Given the description of an element on the screen output the (x, y) to click on. 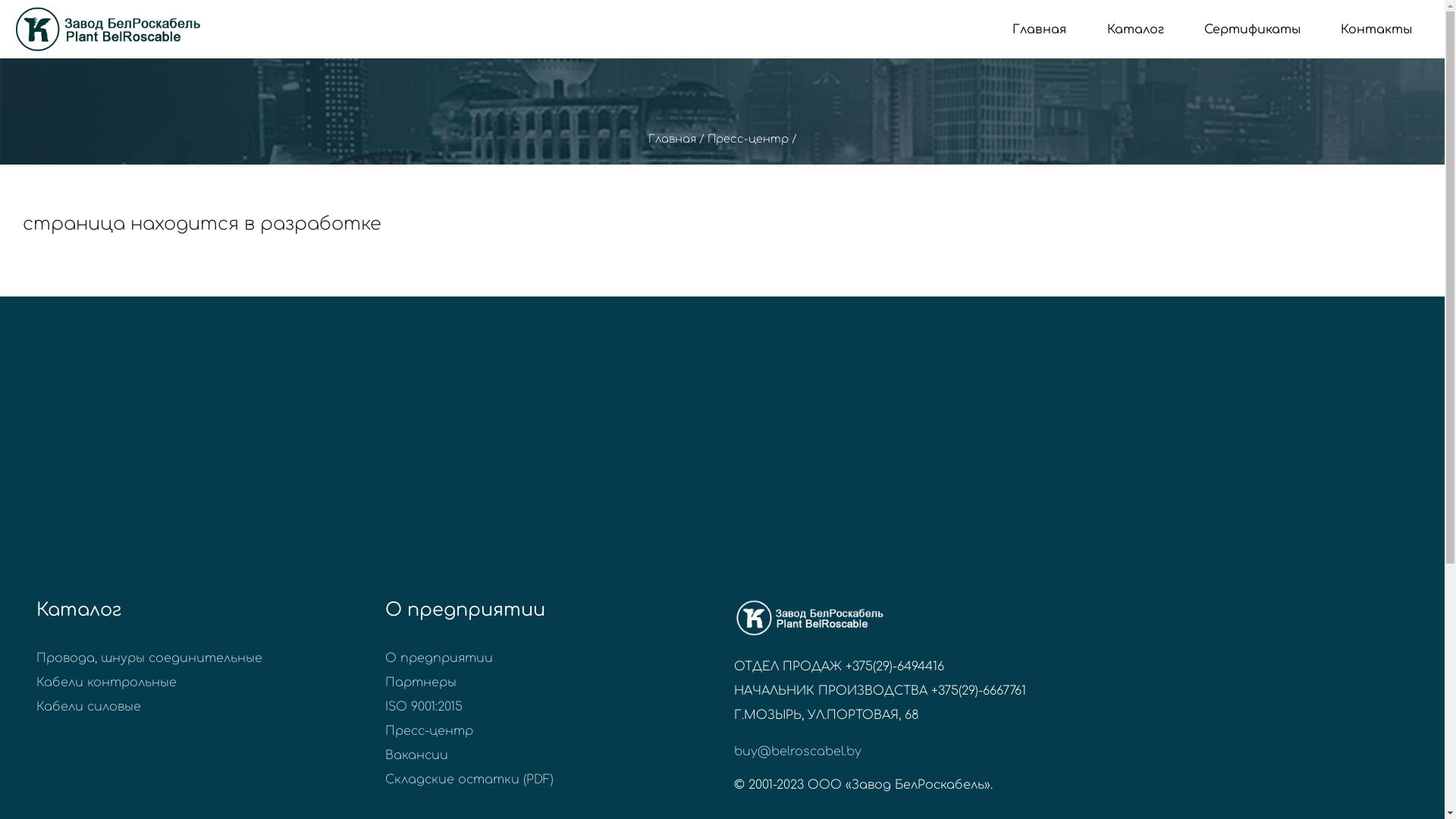
buy@belroscabel.by Element type: text (797, 751)
ISO 9001:2015 Element type: text (423, 706)
